Given the description of an element on the screen output the (x, y) to click on. 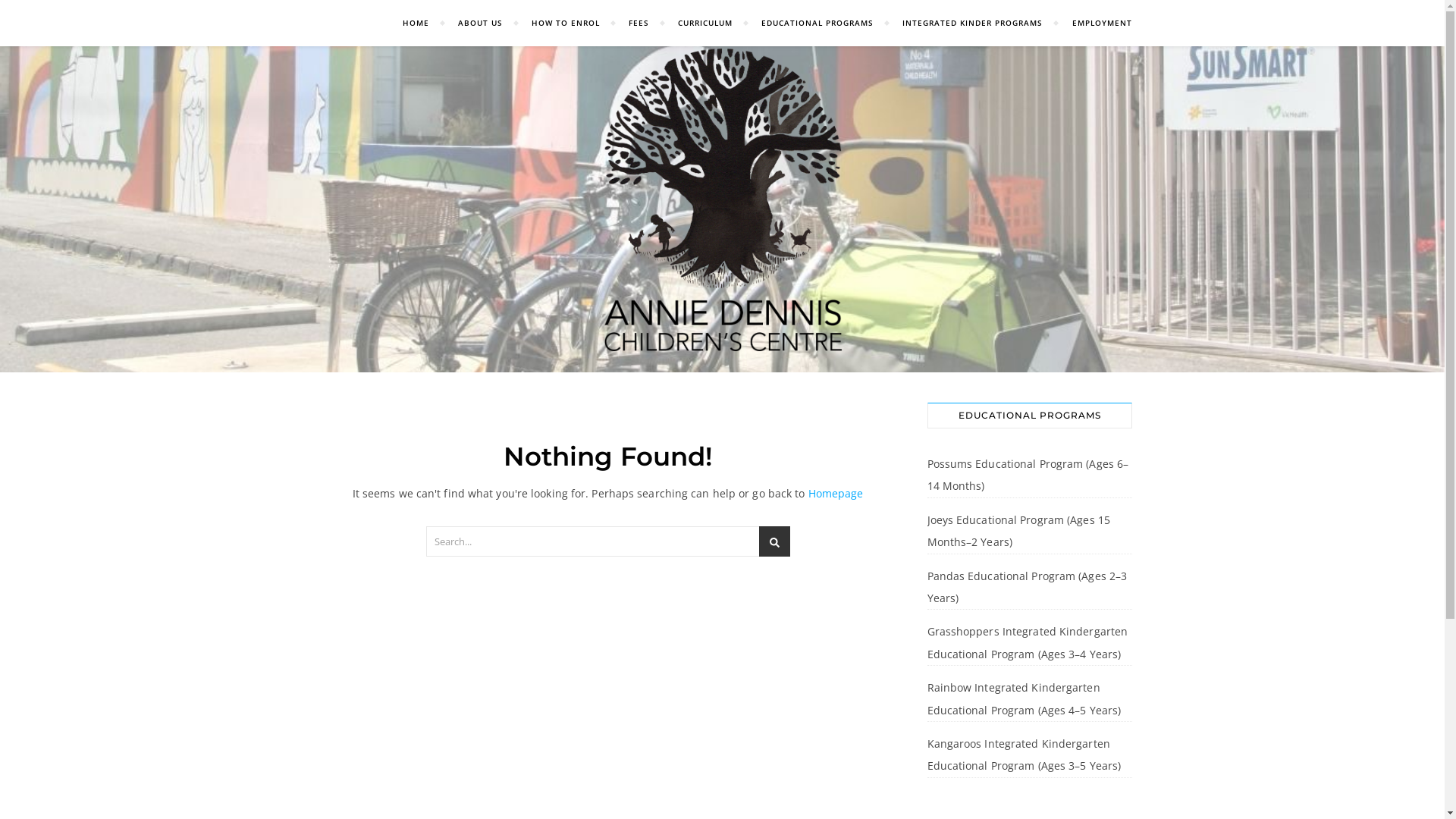
HOW TO ENROL Element type: text (565, 23)
ABOUT US Element type: text (480, 23)
FEES Element type: text (638, 23)
INTEGRATED KINDER PROGRAMS Element type: text (972, 23)
CURRICULUM Element type: text (705, 23)
Homepage Element type: text (835, 493)
EMPLOYMENT Element type: text (1094, 23)
HOME Element type: text (422, 23)
st Element type: text (773, 541)
EDUCATIONAL PROGRAMS Element type: text (817, 23)
